Given the description of an element on the screen output the (x, y) to click on. 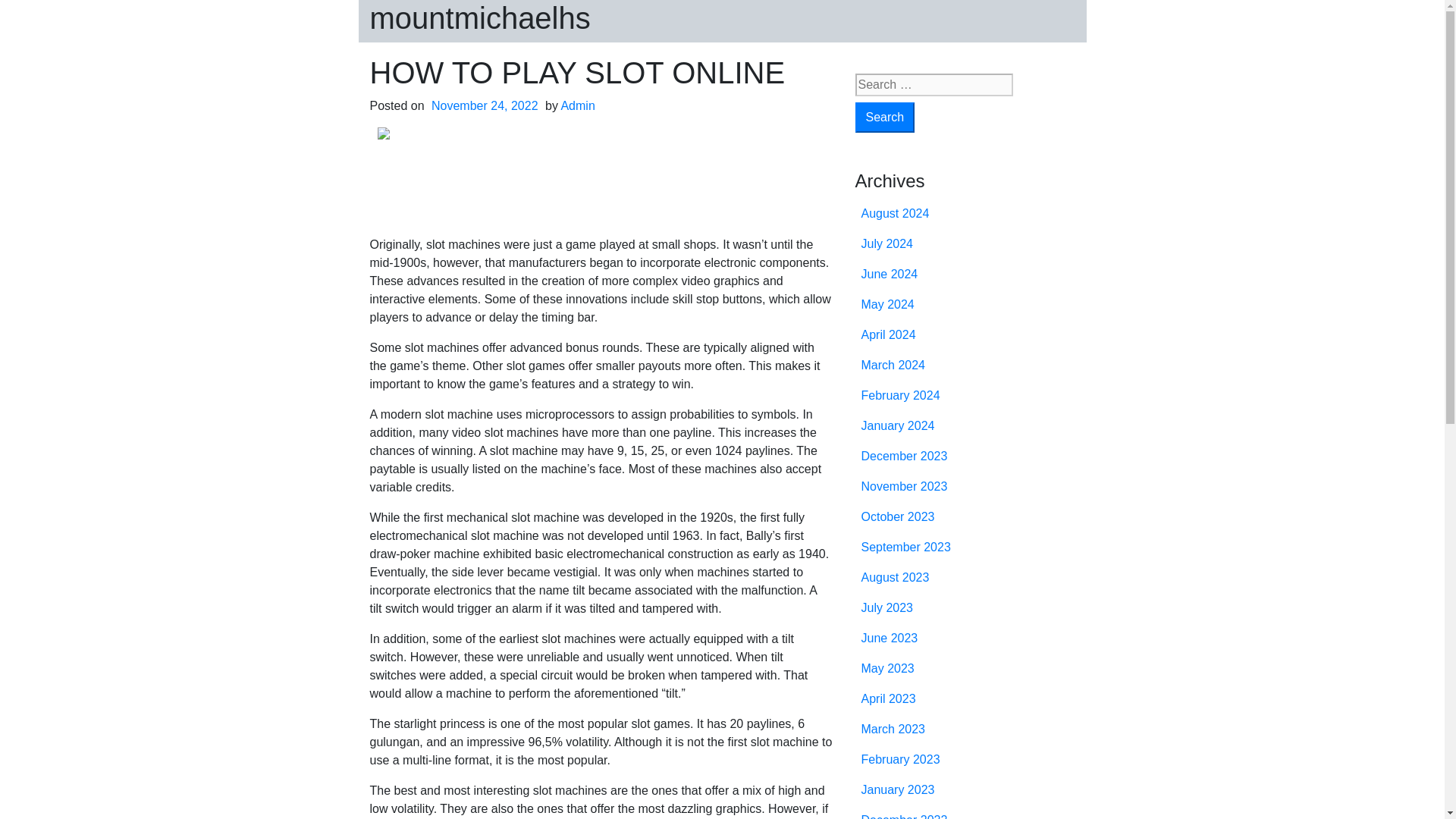
February 2023 (900, 758)
April 2024 (888, 334)
August 2023 (895, 576)
mountmichaelhs (480, 18)
March 2024 (893, 364)
December 2022 (904, 816)
November 2023 (904, 486)
June 2024 (889, 273)
February 2024 (900, 395)
Search (885, 117)
